Given the description of an element on the screen output the (x, y) to click on. 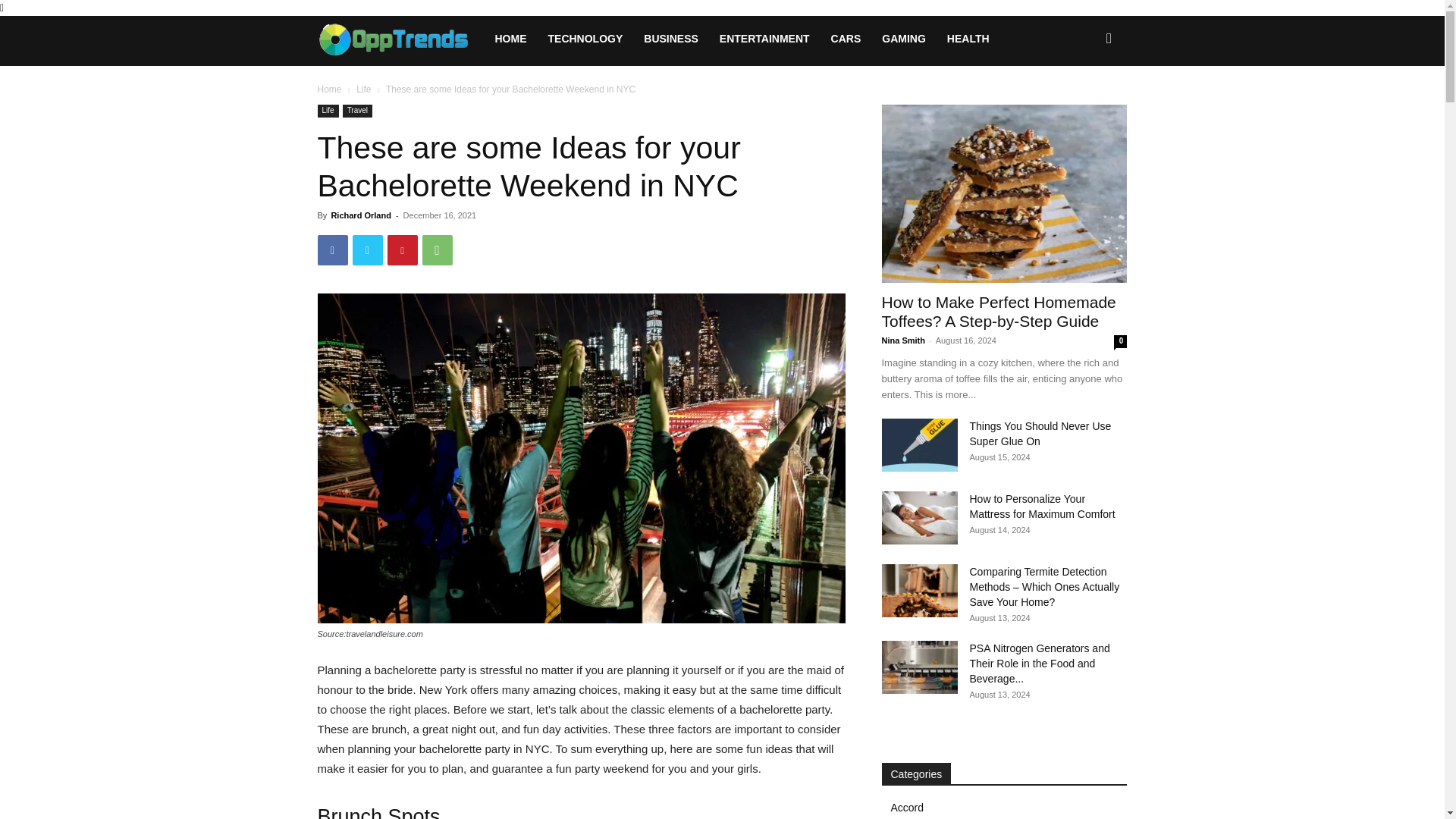
View all posts in Life (363, 89)
Twitter (366, 250)
Travel (357, 110)
Opptrends 2024 (400, 38)
HEALTH (968, 38)
TECHNOLOGY (585, 38)
Life (327, 110)
BUSINESS (671, 38)
CARS (846, 38)
HOME (510, 38)
